Given the description of an element on the screen output the (x, y) to click on. 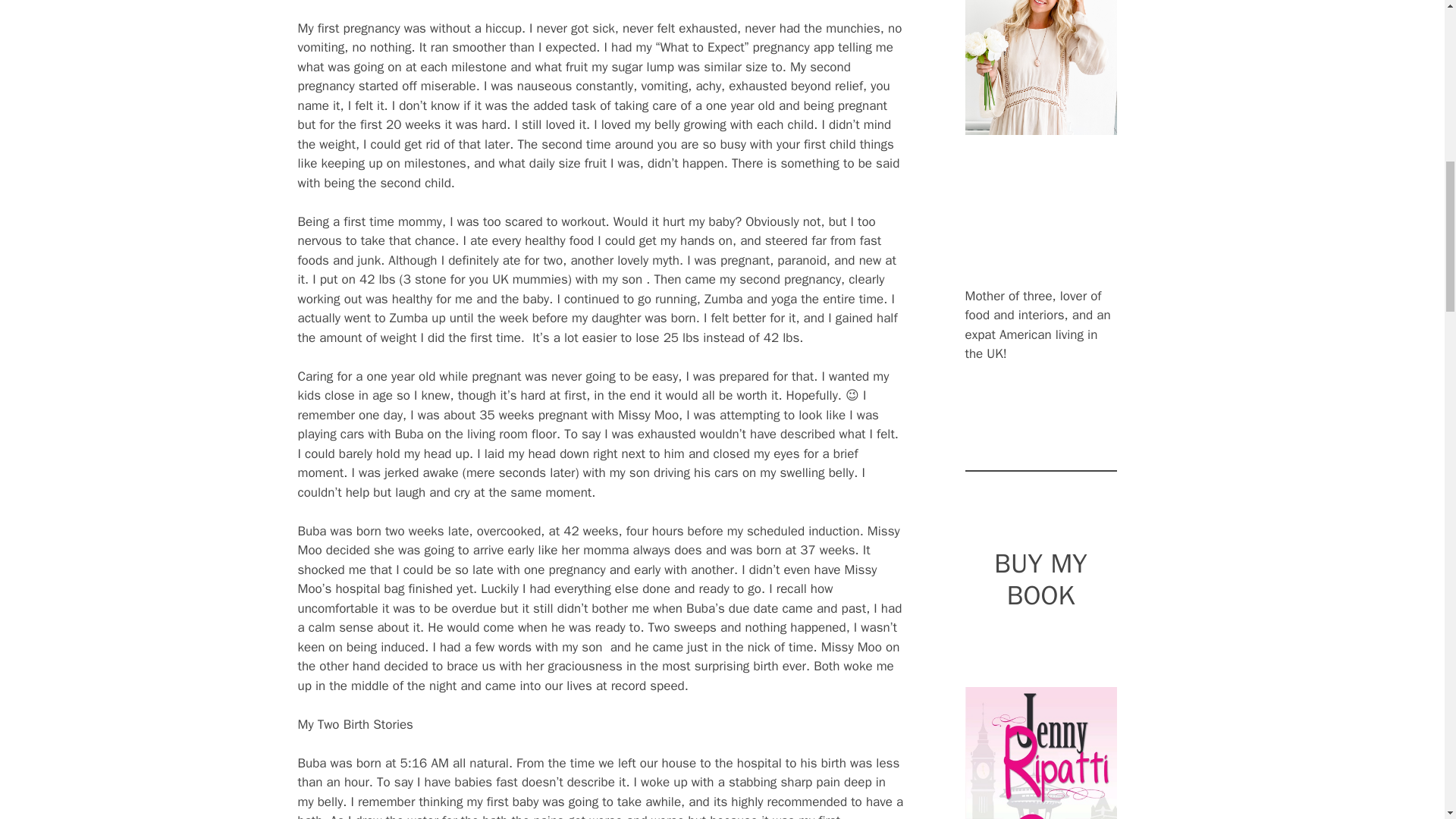
Lily Blanche Butterfly Locket (1039, 67)
Scroll back to top (1406, 720)
